Given the description of an element on the screen output the (x, y) to click on. 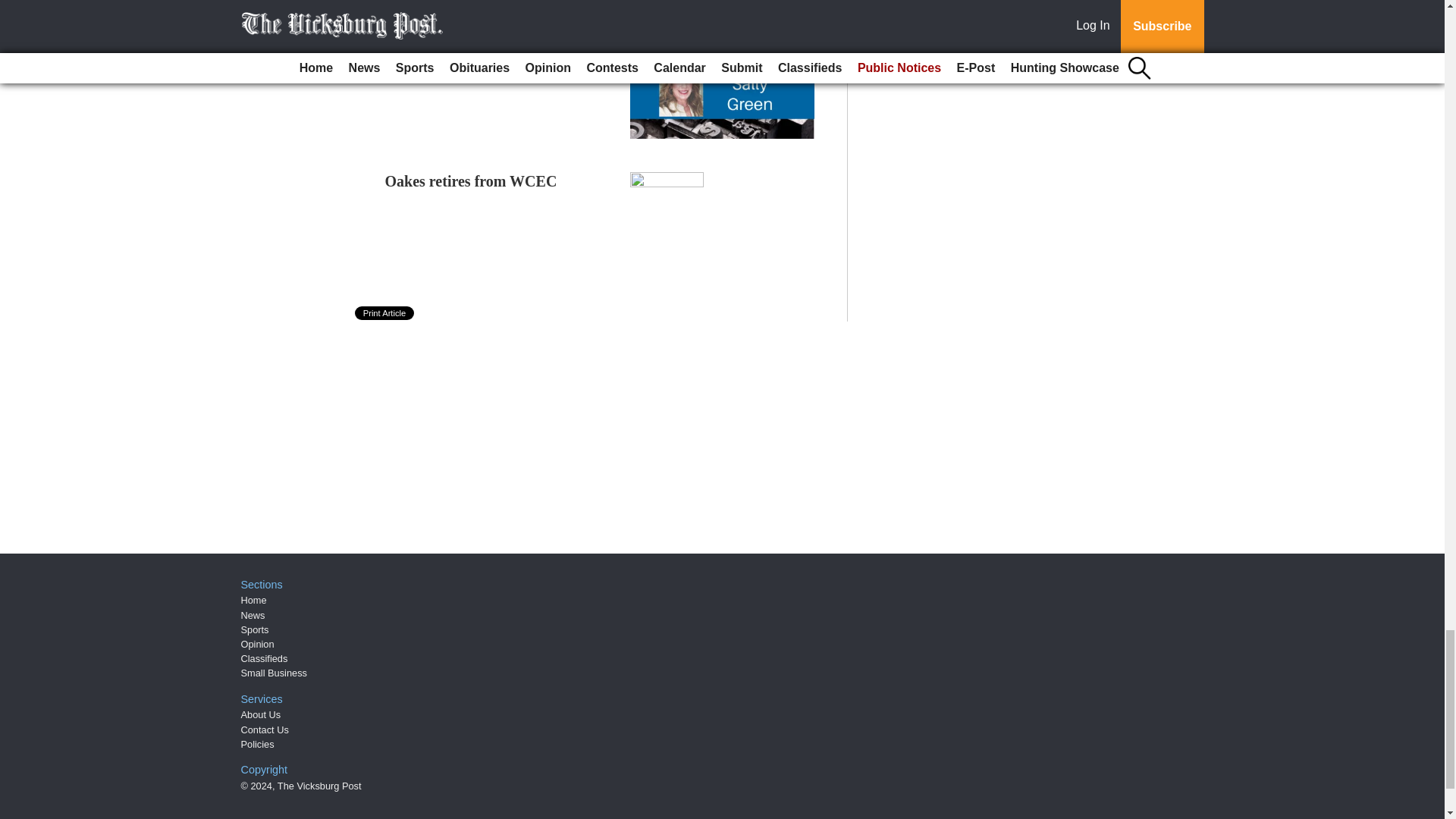
Teen volunteers bring hope from new generation (490, 55)
Oakes retires from WCEC (471, 180)
Print Article (384, 313)
Teen volunteers bring hope from new generation (490, 55)
Oakes retires from WCEC (471, 180)
